Given the description of an element on the screen output the (x, y) to click on. 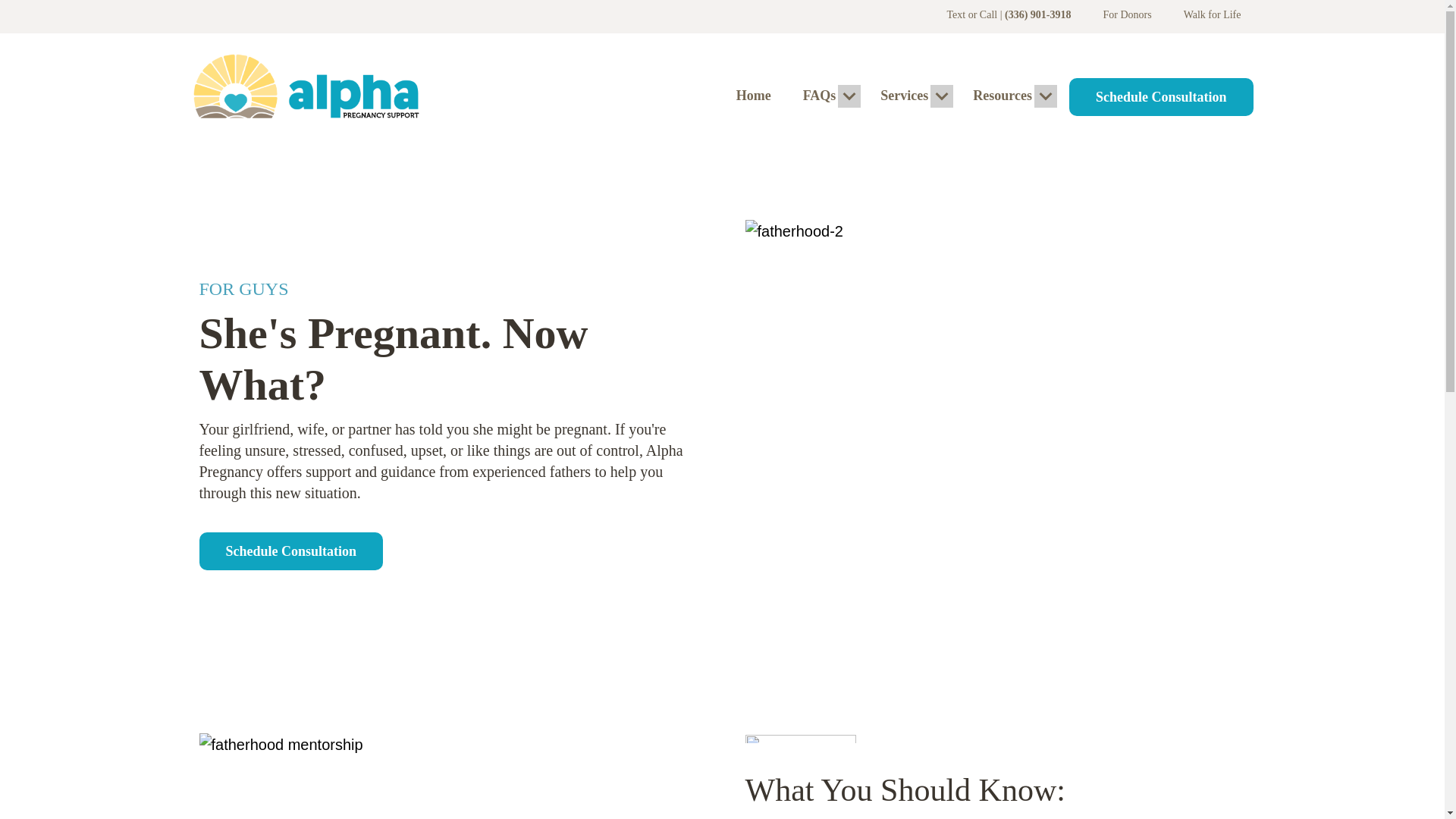
For Donors (1126, 14)
Schedule Consultation (1160, 96)
Resources (1001, 95)
Services (903, 95)
FAQs (819, 95)
Home (753, 95)
Walk for Life (1212, 14)
